Given the description of an element on the screen output the (x, y) to click on. 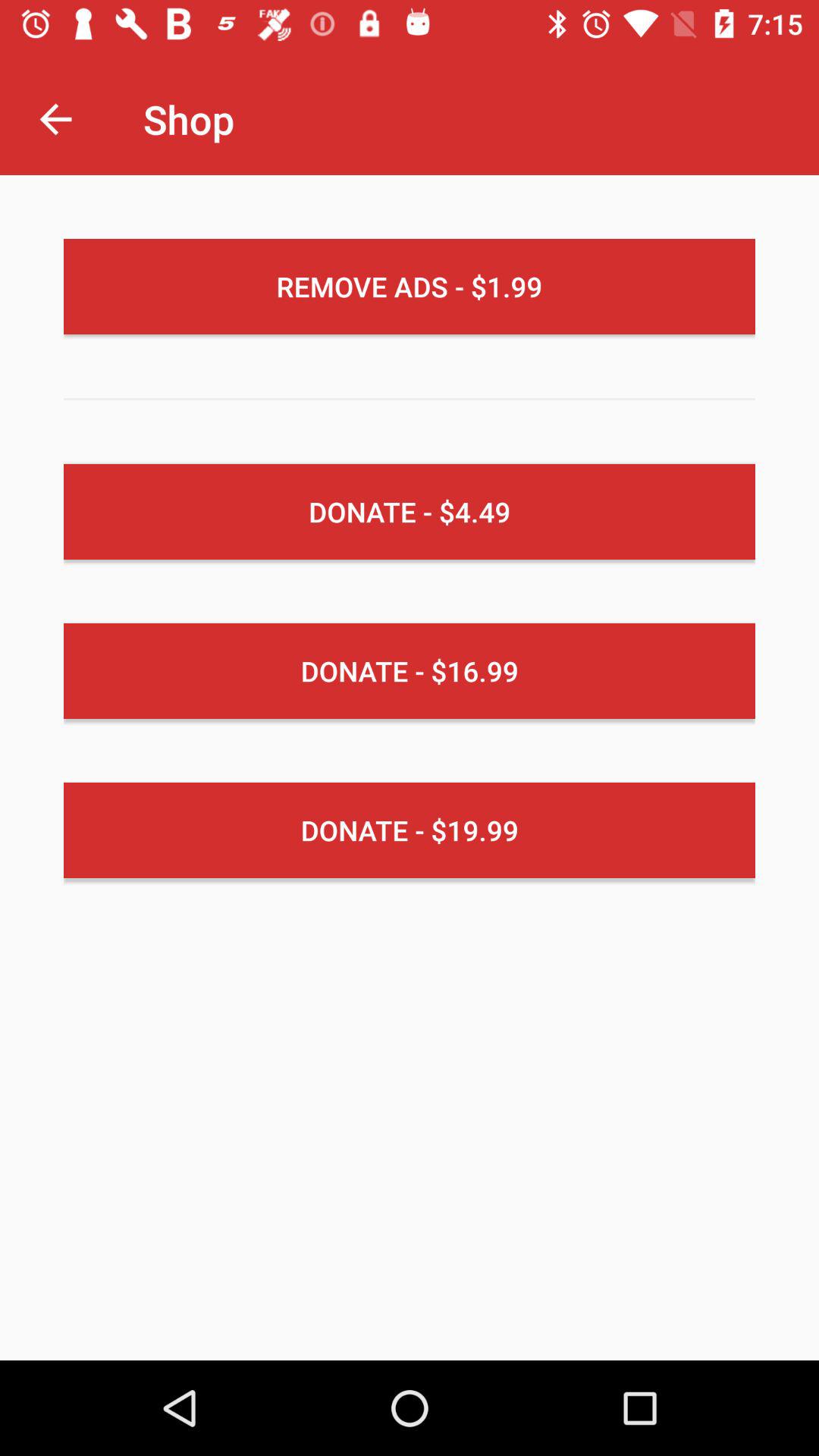
launch the item next to shop (55, 119)
